Given the description of an element on the screen output the (x, y) to click on. 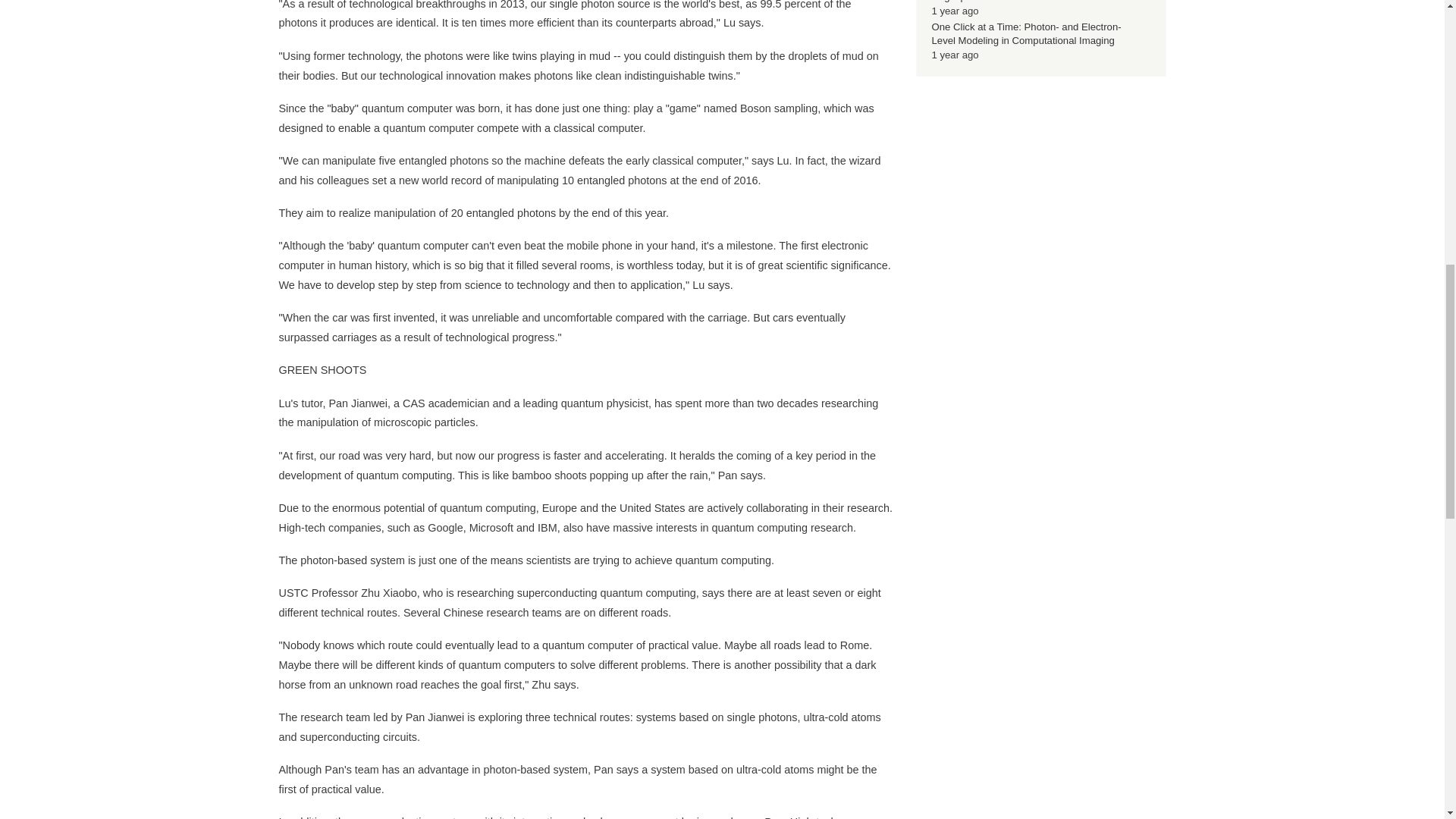
Generation, manipulation and detection of single photons (1023, 1)
